Given the description of an element on the screen output the (x, y) to click on. 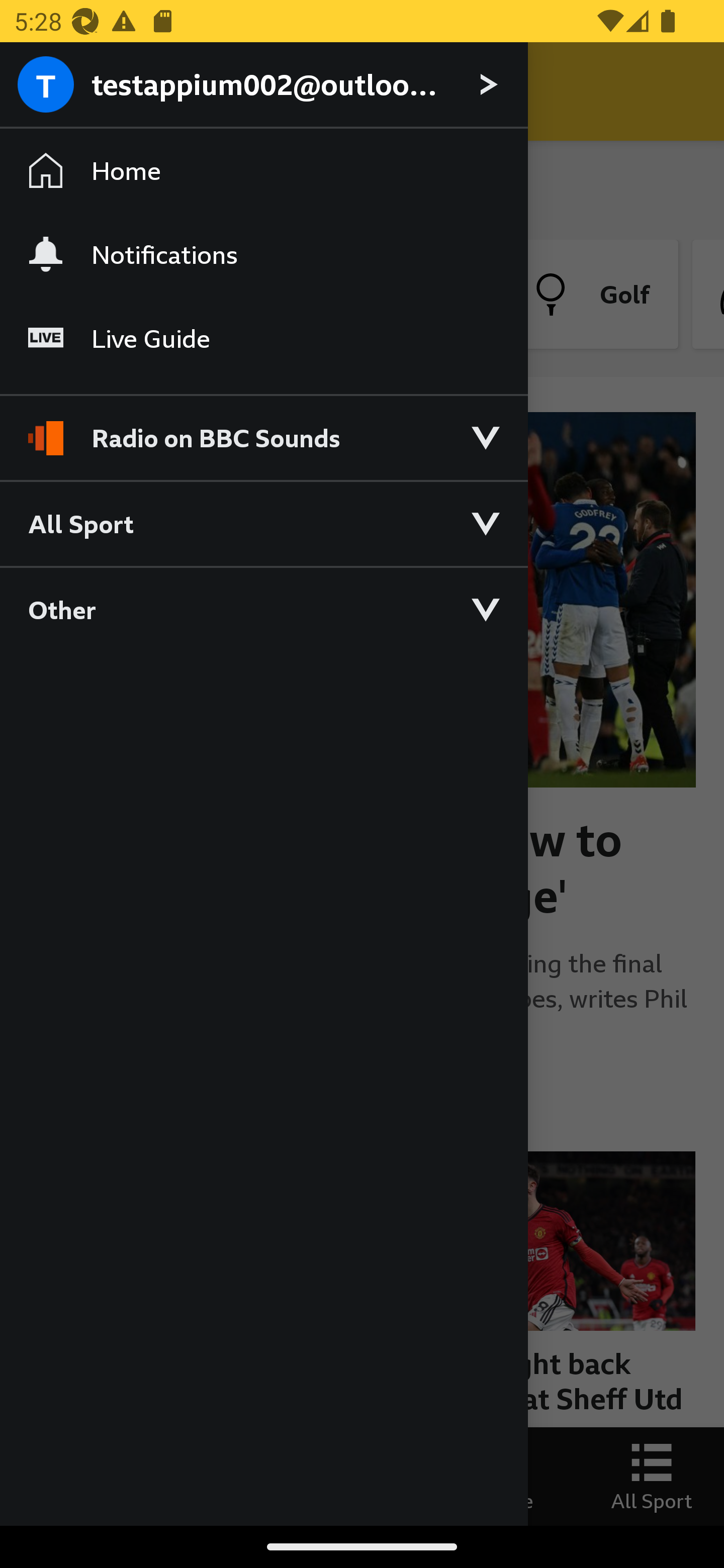
testappium002@outlook.com (263, 85)
Home (263, 170)
Notifications (263, 253)
Live Guide (263, 338)
Radio on BBC Sounds (263, 429)
All Sport (263, 522)
Other (263, 609)
